Given the description of an element on the screen output the (x, y) to click on. 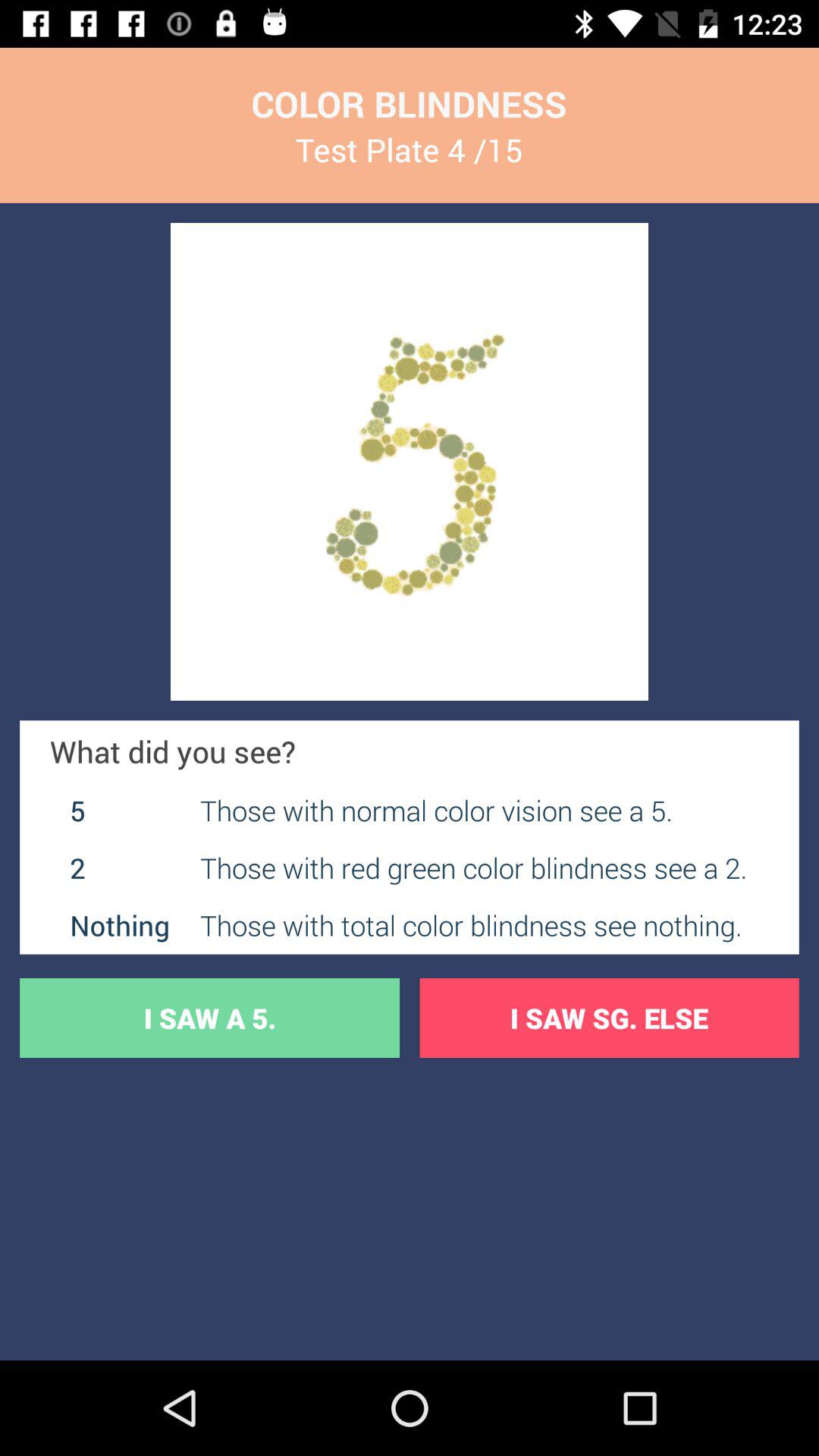
select the item below test plate 4 icon (409, 461)
